Given the description of an element on the screen output the (x, y) to click on. 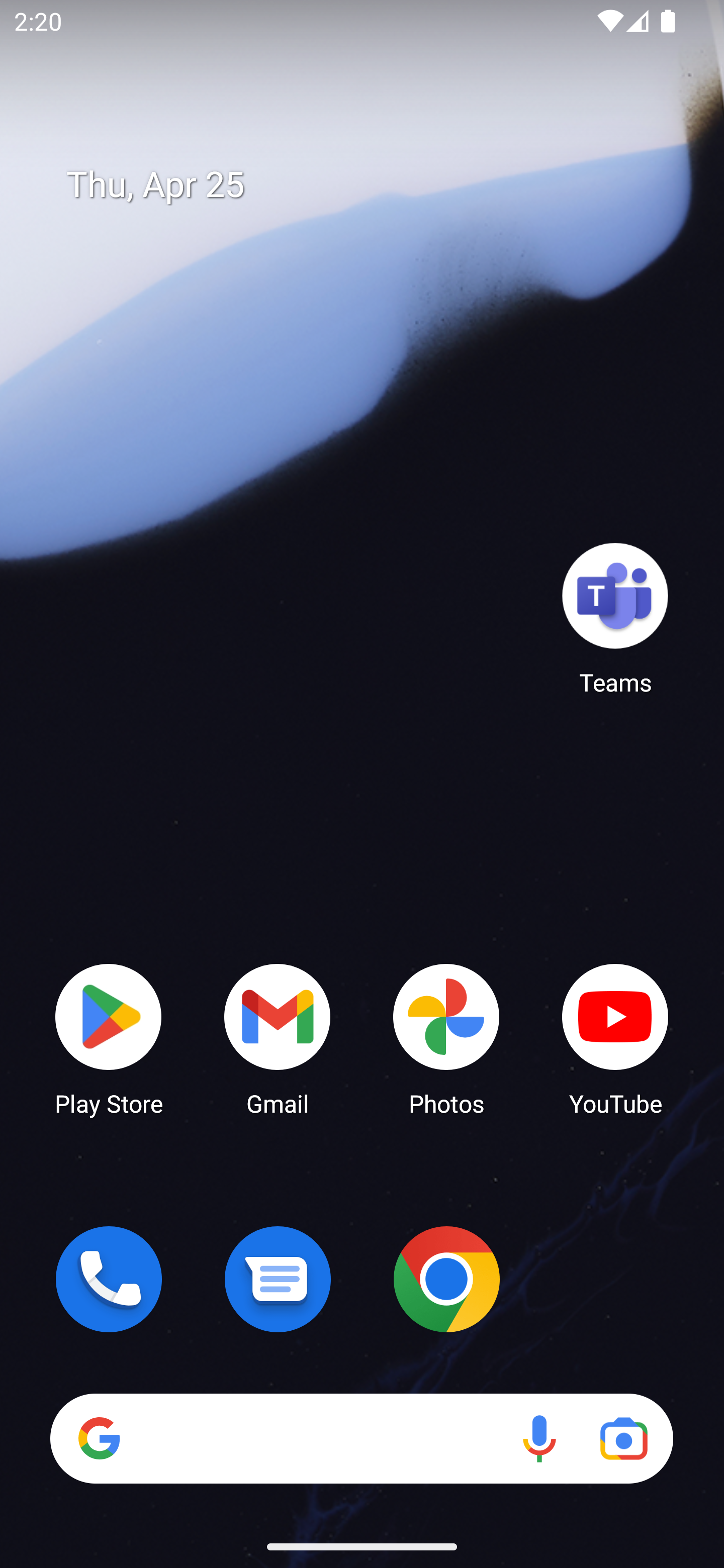
Thu, Apr 25 (375, 184)
Teams (615, 617)
Play Store (108, 1038)
Gmail (277, 1038)
Photos (445, 1038)
YouTube (615, 1038)
Phone (108, 1279)
Messages (277, 1279)
Chrome (446, 1279)
Search Voice search Google Lens (361, 1438)
Voice search (539, 1438)
Google Lens (623, 1438)
